Given the description of an element on the screen output the (x, y) to click on. 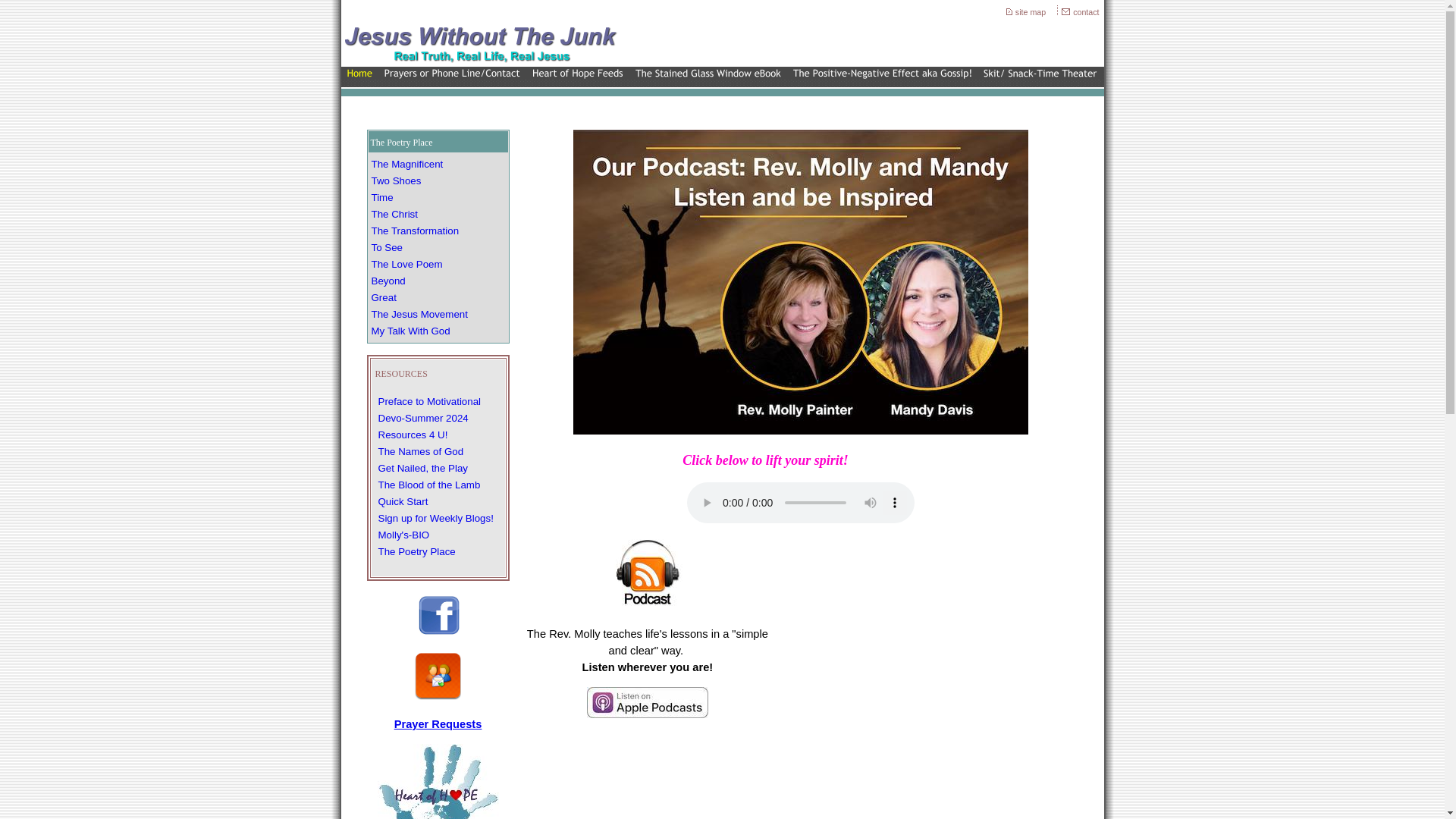
Beyond (388, 280)
The Transformation (415, 230)
The Magnificent (407, 163)
Molly's-BIO (403, 534)
site map (1030, 11)
My Talk With God (410, 330)
Time (382, 197)
The Poetry Place (415, 551)
The Love Poem (406, 264)
Quick Start (402, 501)
Great (383, 297)
The Christ (394, 214)
The Names of God (420, 451)
Resources 4 U! (411, 434)
contact (1086, 11)
